Given the description of an element on the screen output the (x, y) to click on. 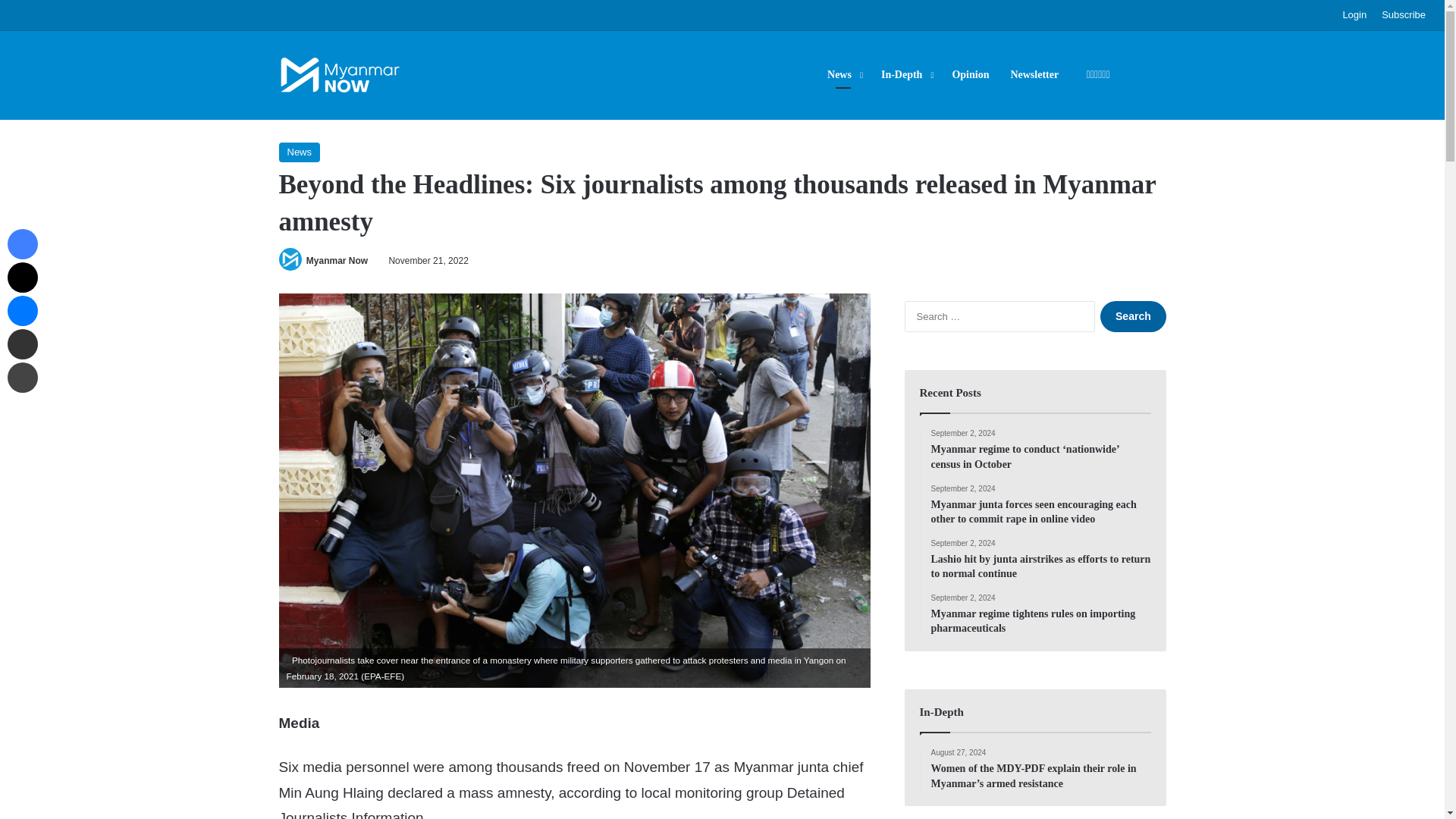
Myanmar Now (336, 260)
Facebook (22, 244)
Newsletter (1033, 74)
Subscribe (1403, 15)
Login (1354, 15)
Search (1133, 316)
Messenger (22, 310)
X (22, 277)
Myanmar Now (336, 260)
News (299, 152)
